Given the description of an element on the screen output the (x, y) to click on. 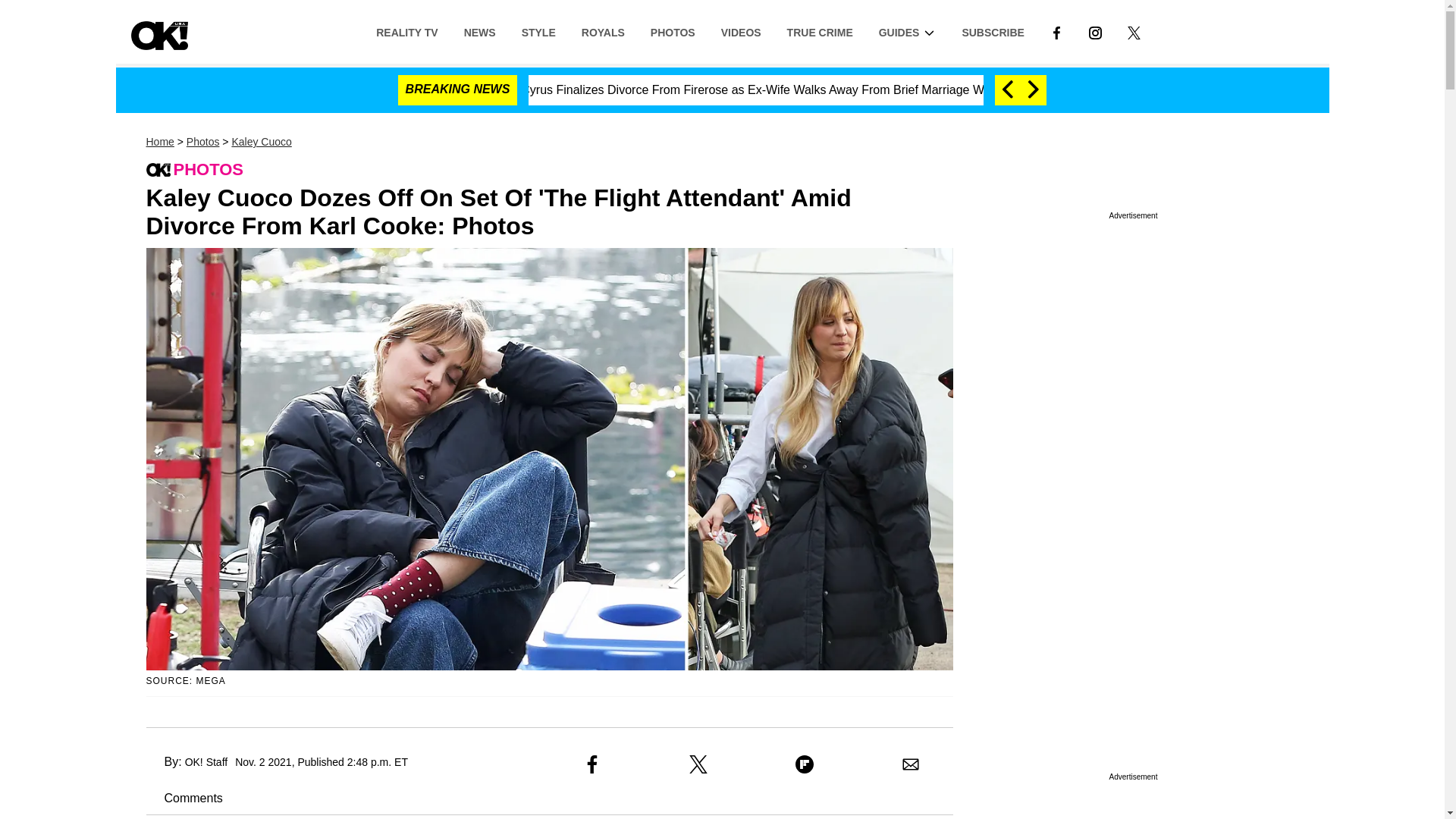
Comments (183, 797)
OK! Staff (206, 761)
Link to Facebook (1055, 31)
REALITY TV (405, 31)
Link to Instagram (1095, 31)
PHOTOS (672, 31)
TRUE CRIME (820, 31)
VIDEOS (740, 31)
Share to Email (909, 764)
Share to Facebook (590, 764)
LINK TO INSTAGRAM (1095, 32)
NEWS (479, 31)
Share to X (697, 764)
LINK TO INSTAGRAM (1095, 31)
